Given the description of an element on the screen output the (x, y) to click on. 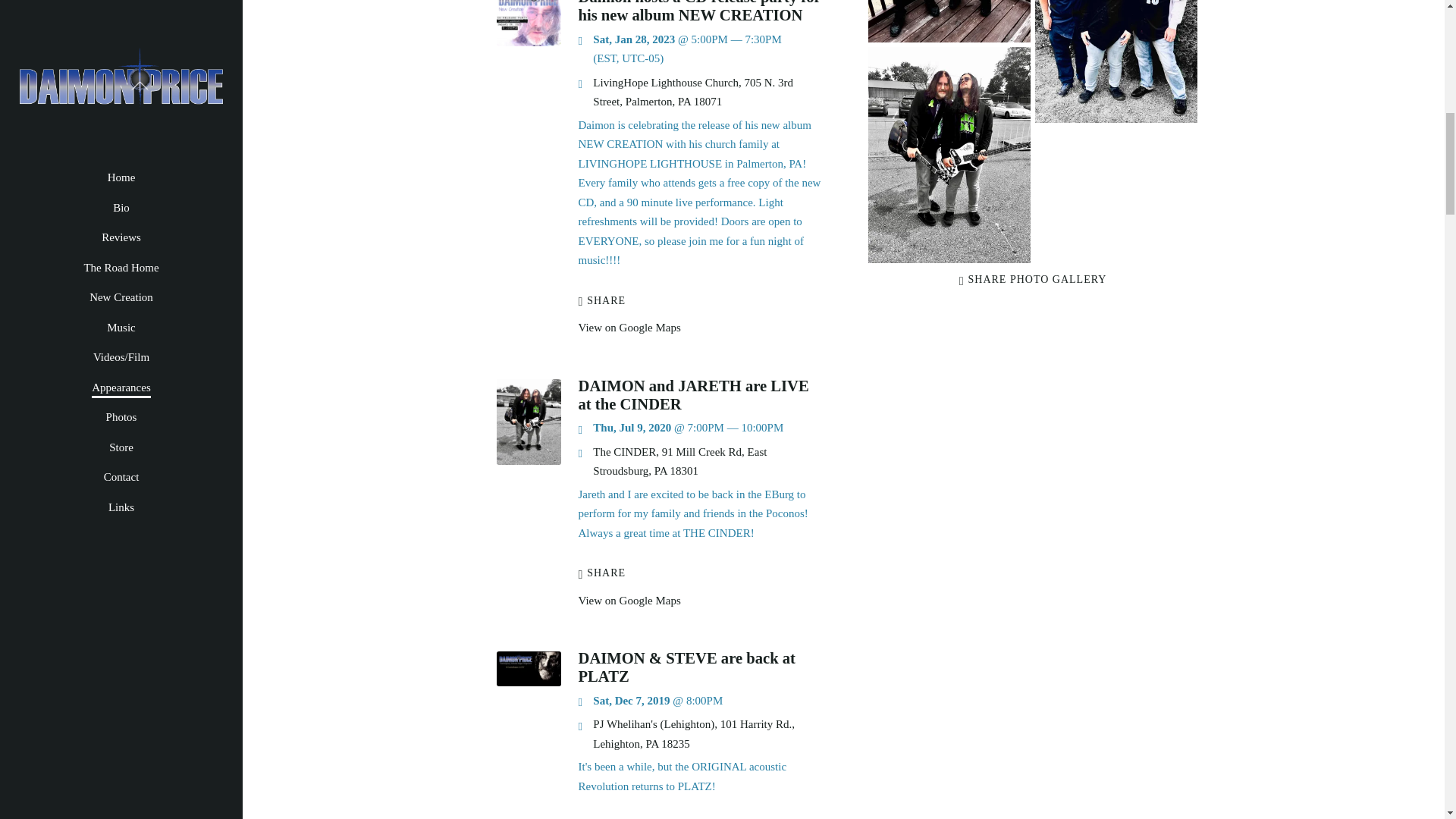
View on Google Maps (693, 734)
View on Google Maps (679, 461)
Visit venue website (692, 92)
DAIMON and JARETH are LIVE at the CINDER (528, 460)
